Given the description of an element on the screen output the (x, y) to click on. 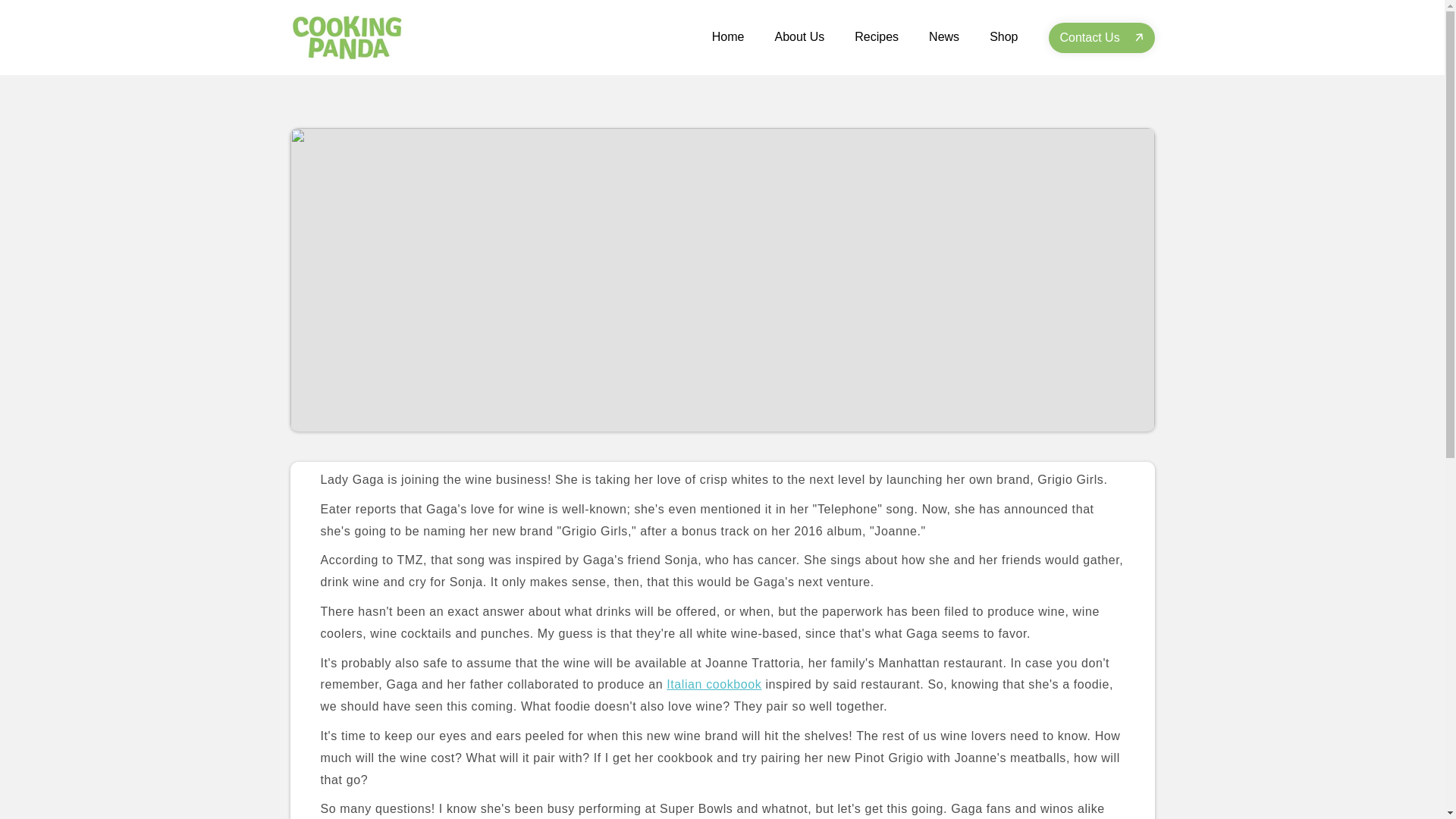
Home (728, 36)
News (944, 36)
Italian cookbook (713, 684)
About Us (799, 36)
Shop (1003, 36)
Recipes (877, 36)
Contact Us (1101, 37)
Skip to content (45, 22)
